Given the description of an element on the screen output the (x, y) to click on. 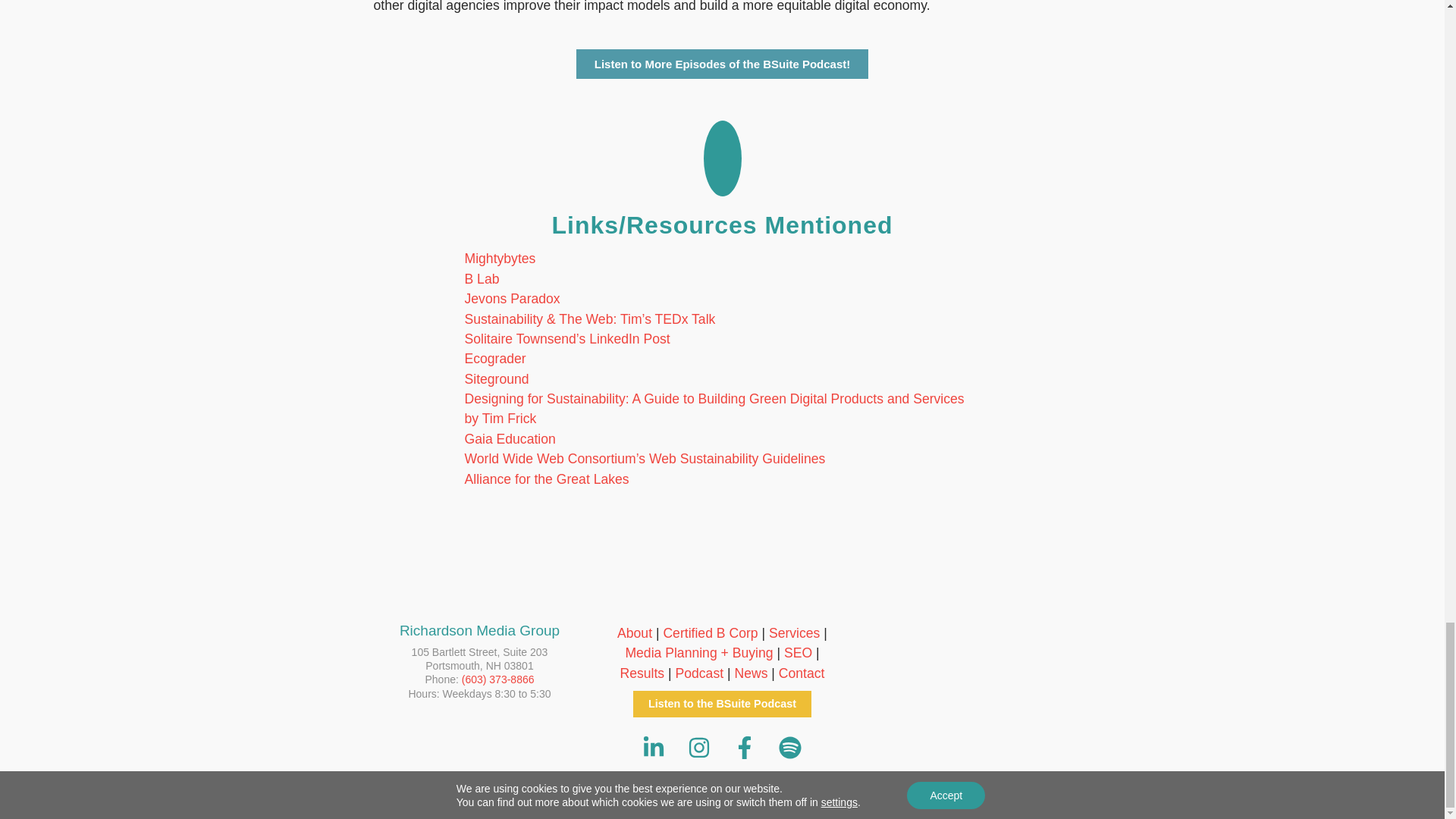
Richardson Media Group (478, 752)
